Given the description of an element on the screen output the (x, y) to click on. 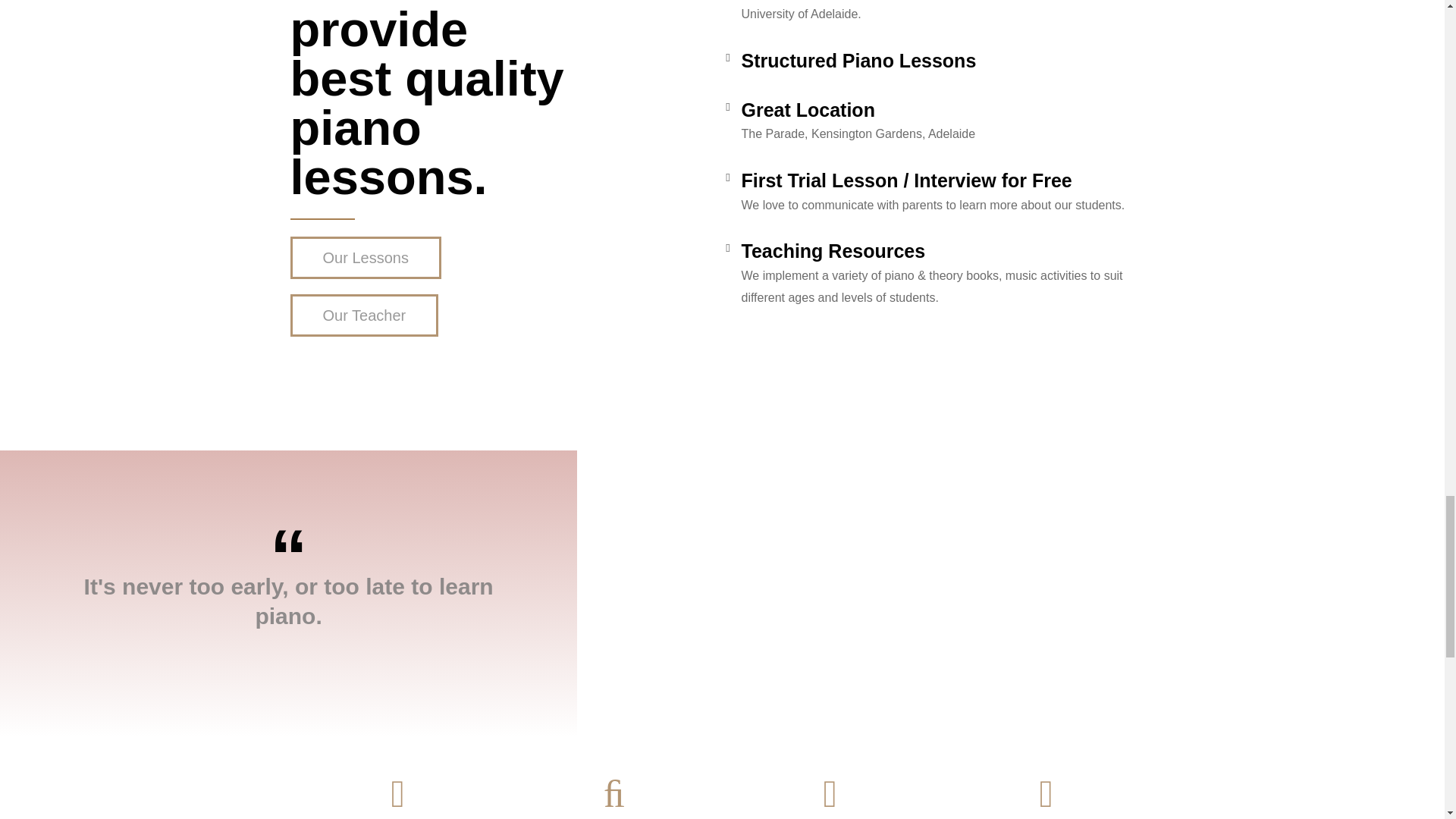
Our Teacher (363, 315)
Our Lessons (365, 257)
